Given the description of an element on the screen output the (x, y) to click on. 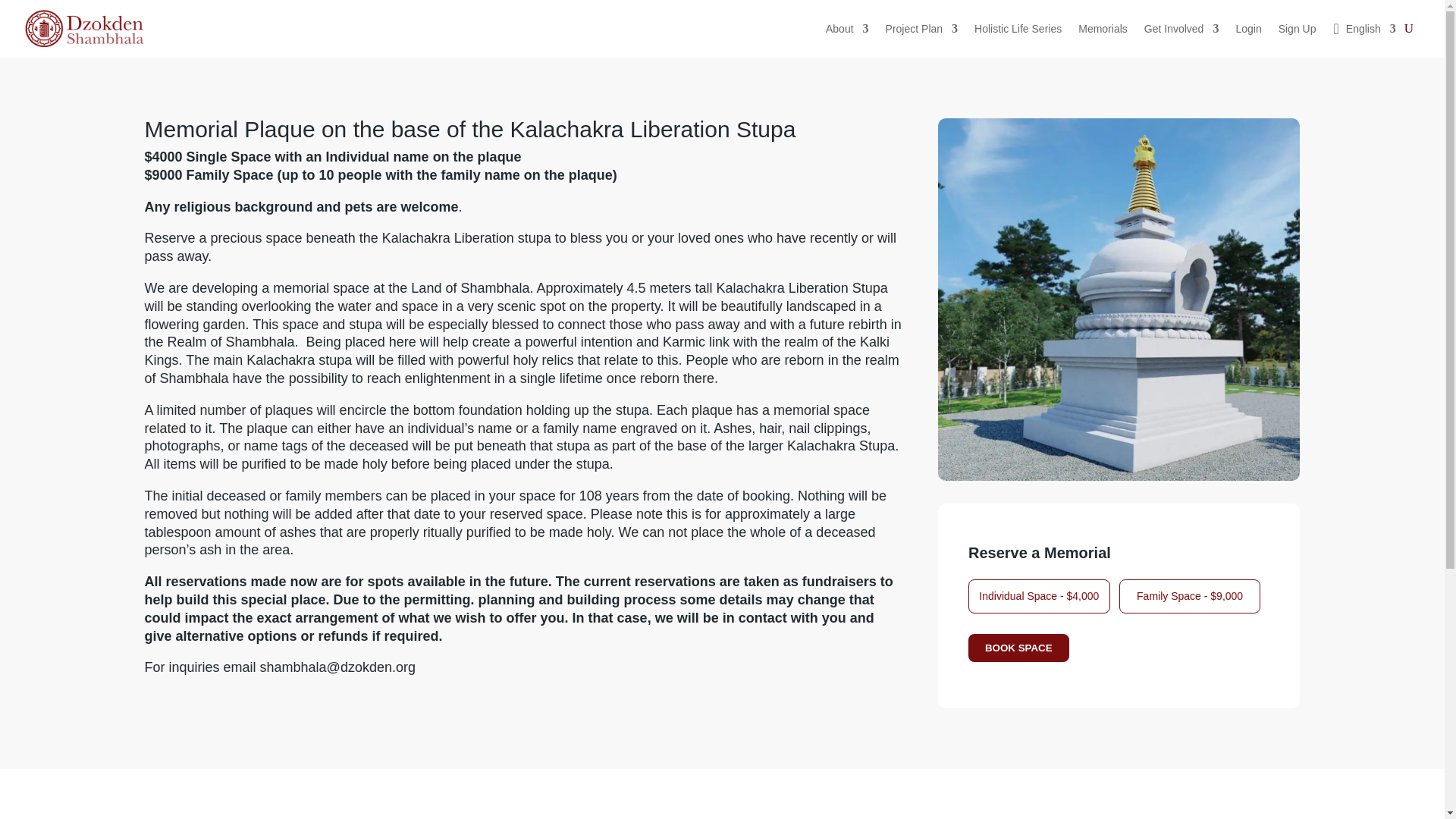
Project Plan (921, 28)
English (1363, 28)
Holistic Life Series (1017, 28)
Memorial Plaque in the Kalachakra Liberation Stupa Gardens (1118, 298)
Get Involved (1182, 28)
